Given the description of an element on the screen output the (x, y) to click on. 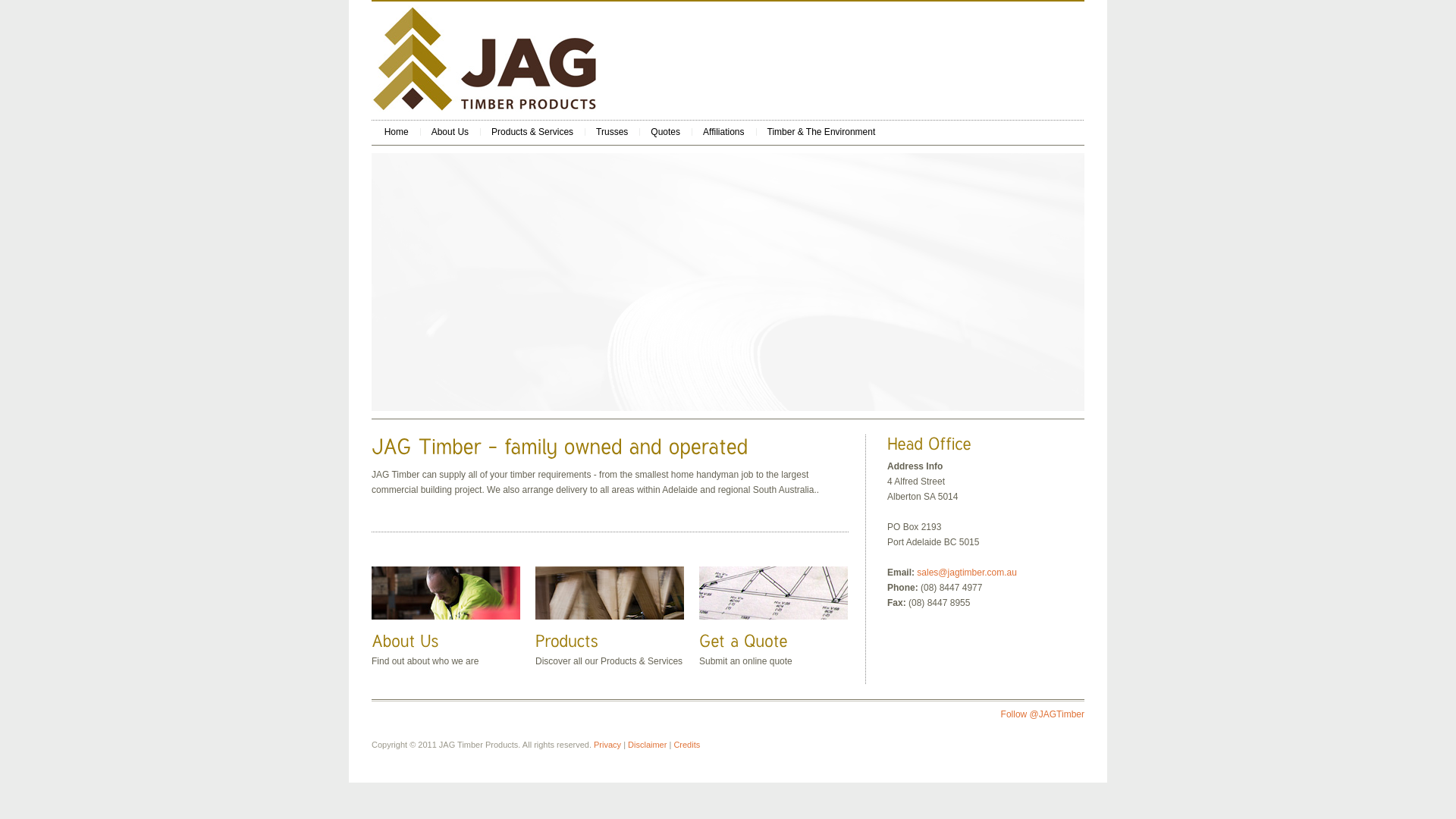
     Home Element type: text (395, 131)
Credits Element type: text (686, 744)
Follow @JAGTimber Element type: text (1042, 714)
Products & Services Element type: text (532, 131)
About Us Element type: text (450, 131)
Privacy Element type: text (607, 744)
Quotes Element type: text (665, 131)
Timber & The Environment Element type: text (821, 131)
Affiliations Element type: text (723, 131)
Disclaimer Element type: text (646, 744)
Trusses Element type: text (611, 131)
sales@jagtimber.com.au Element type: text (966, 572)
